Given the description of an element on the screen output the (x, y) to click on. 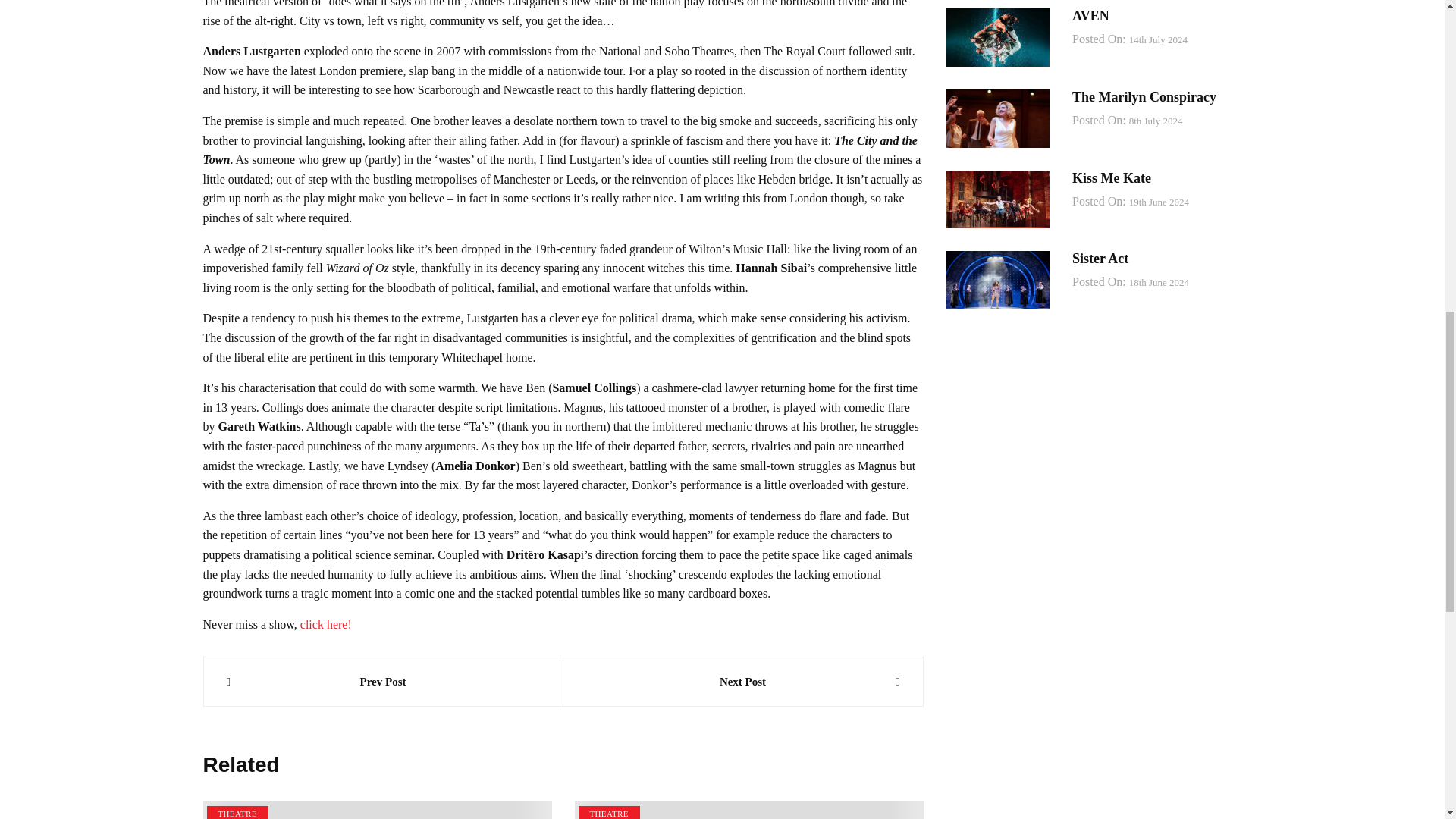
THEATRE (236, 812)
click here! (325, 624)
Prev Post (381, 681)
AVEN (1090, 15)
14th July 2024 (1158, 40)
THEATRE (608, 812)
The Marilyn Conspiracy (1143, 96)
Next Post (742, 681)
